Given the description of an element on the screen output the (x, y) to click on. 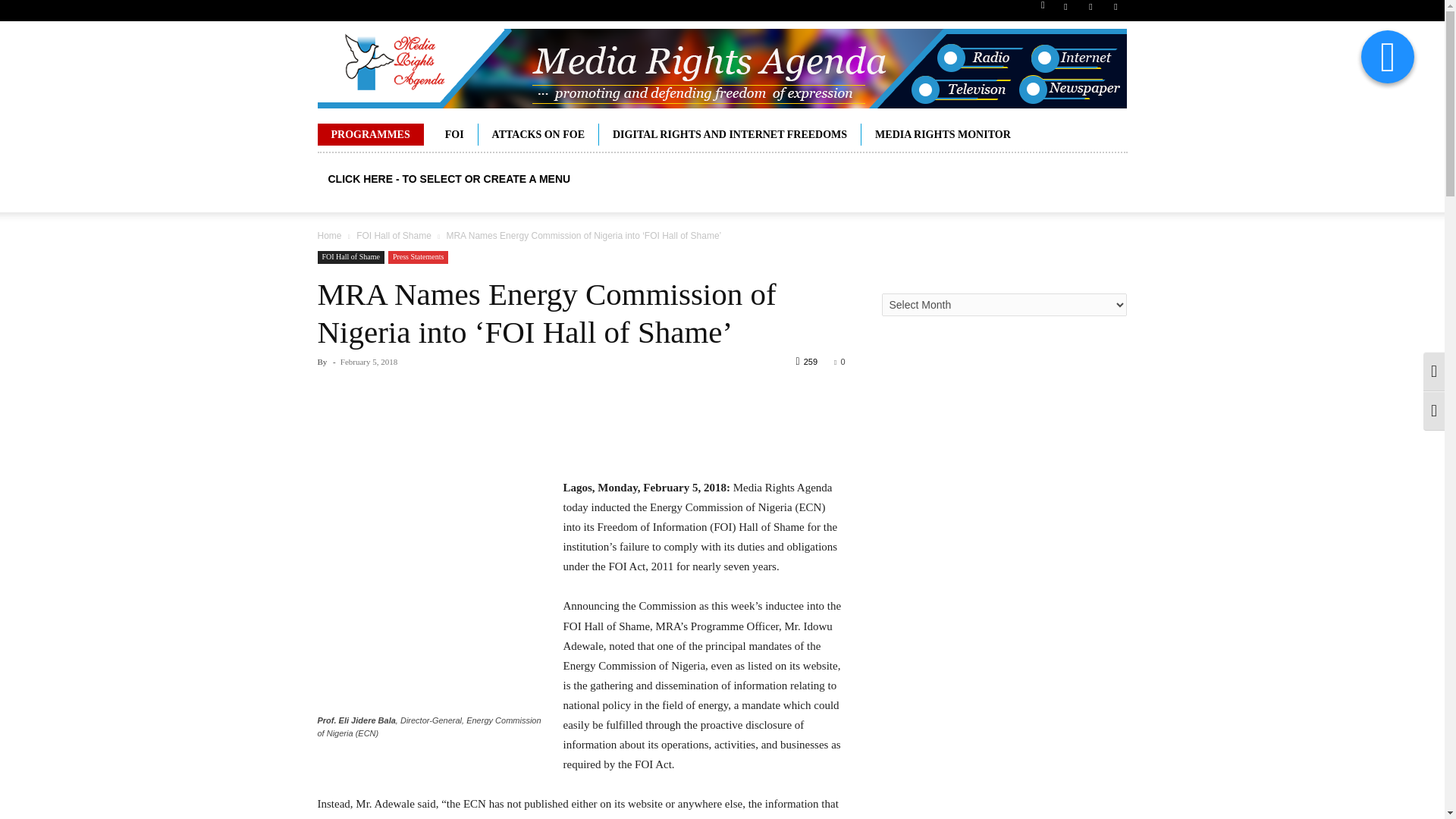
Facebook (1065, 11)
Search (1085, 64)
Twitter (1114, 11)
Media Rights Agenda Logo (721, 68)
FOI (453, 134)
PROGRAMMES (370, 134)
Linkedin (1090, 11)
View all posts in FOI Hall of Shame (393, 235)
